Given the description of an element on the screen output the (x, y) to click on. 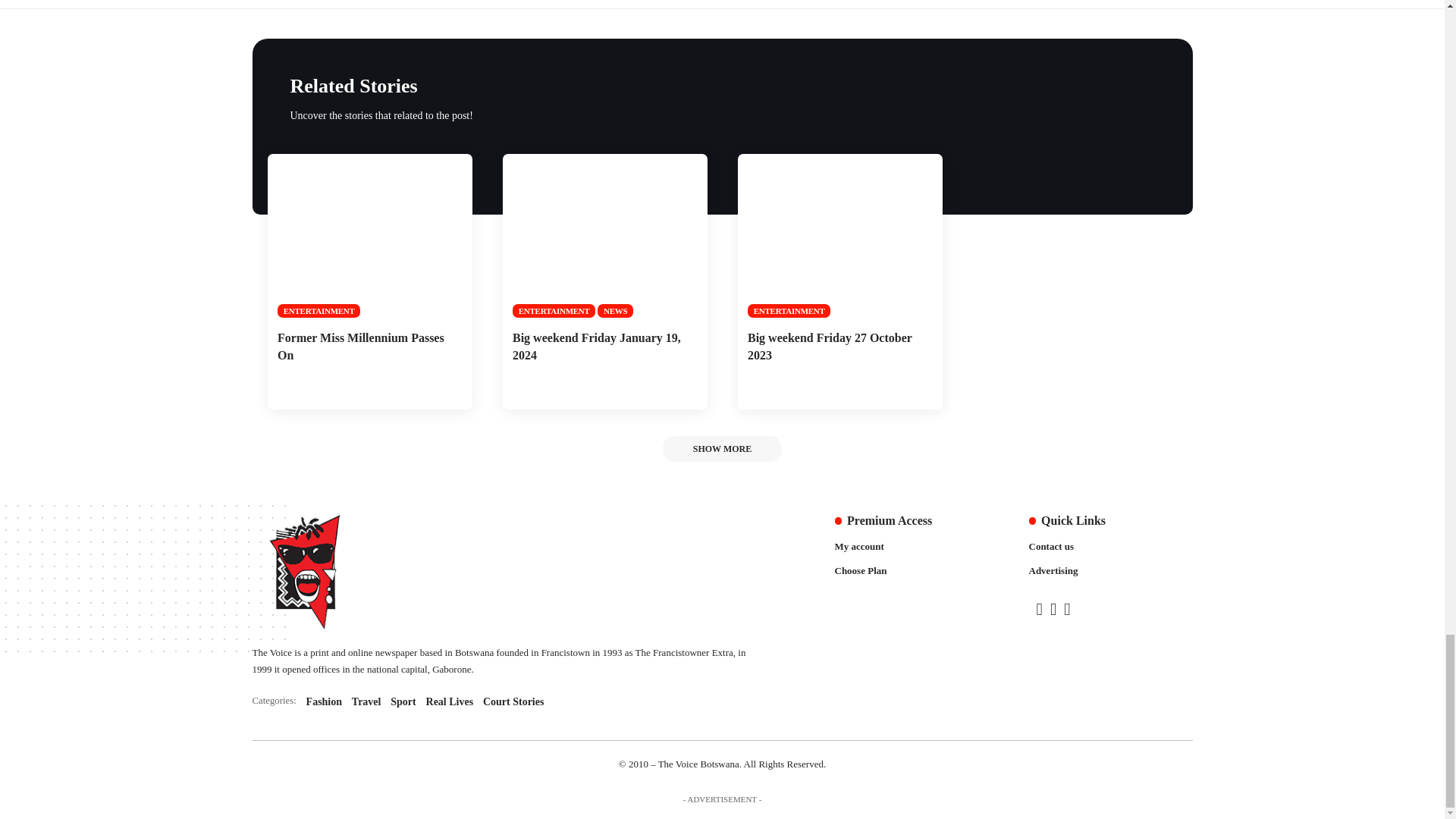
Big weekend Friday January 19, 2024 (604, 235)
Former Miss Millennium Passes On (368, 235)
Big weekend Friday 27 October 2023 (839, 235)
